Given the description of an element on the screen output the (x, y) to click on. 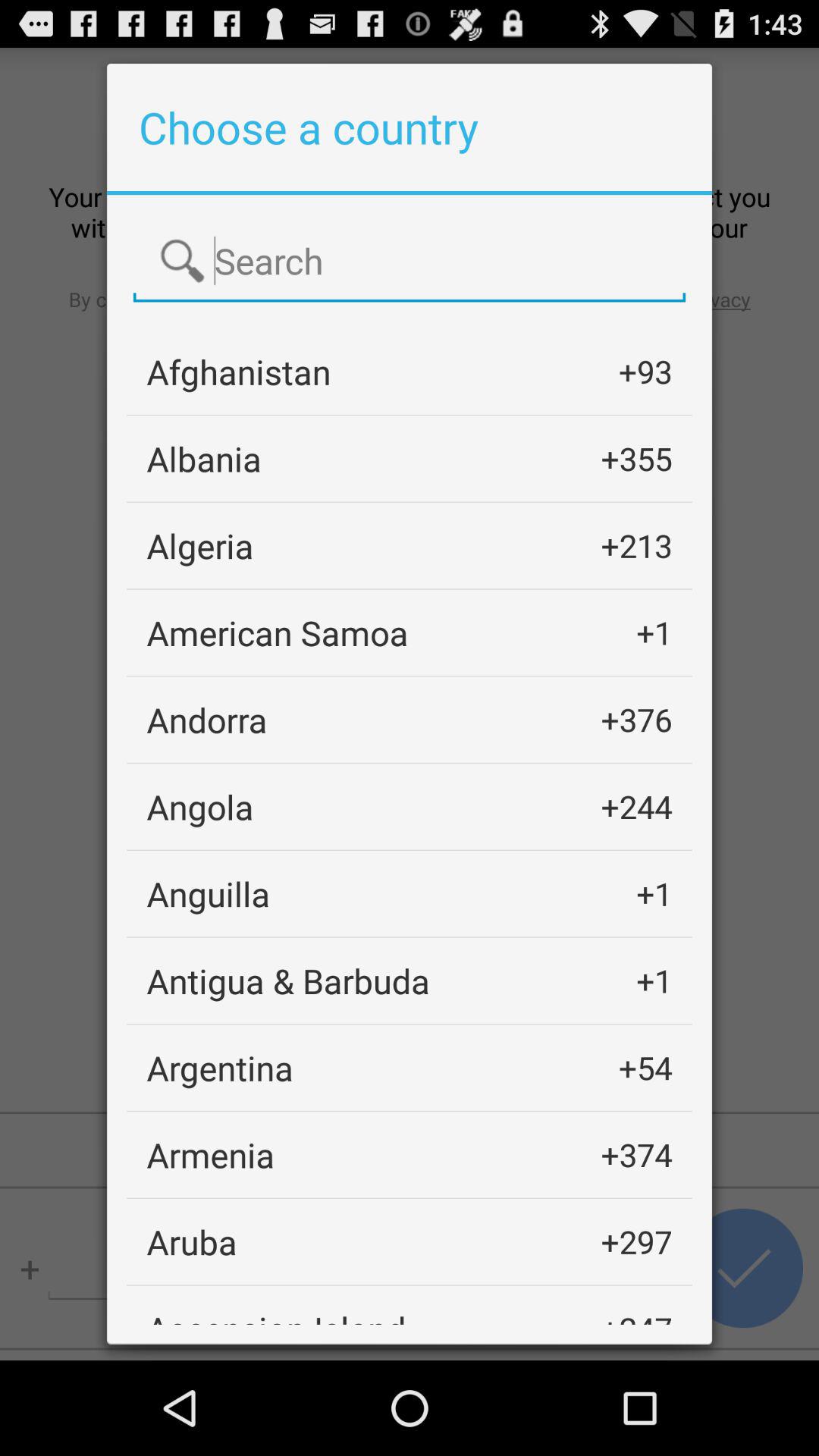
type country to search (409, 261)
